Given the description of an element on the screen output the (x, y) to click on. 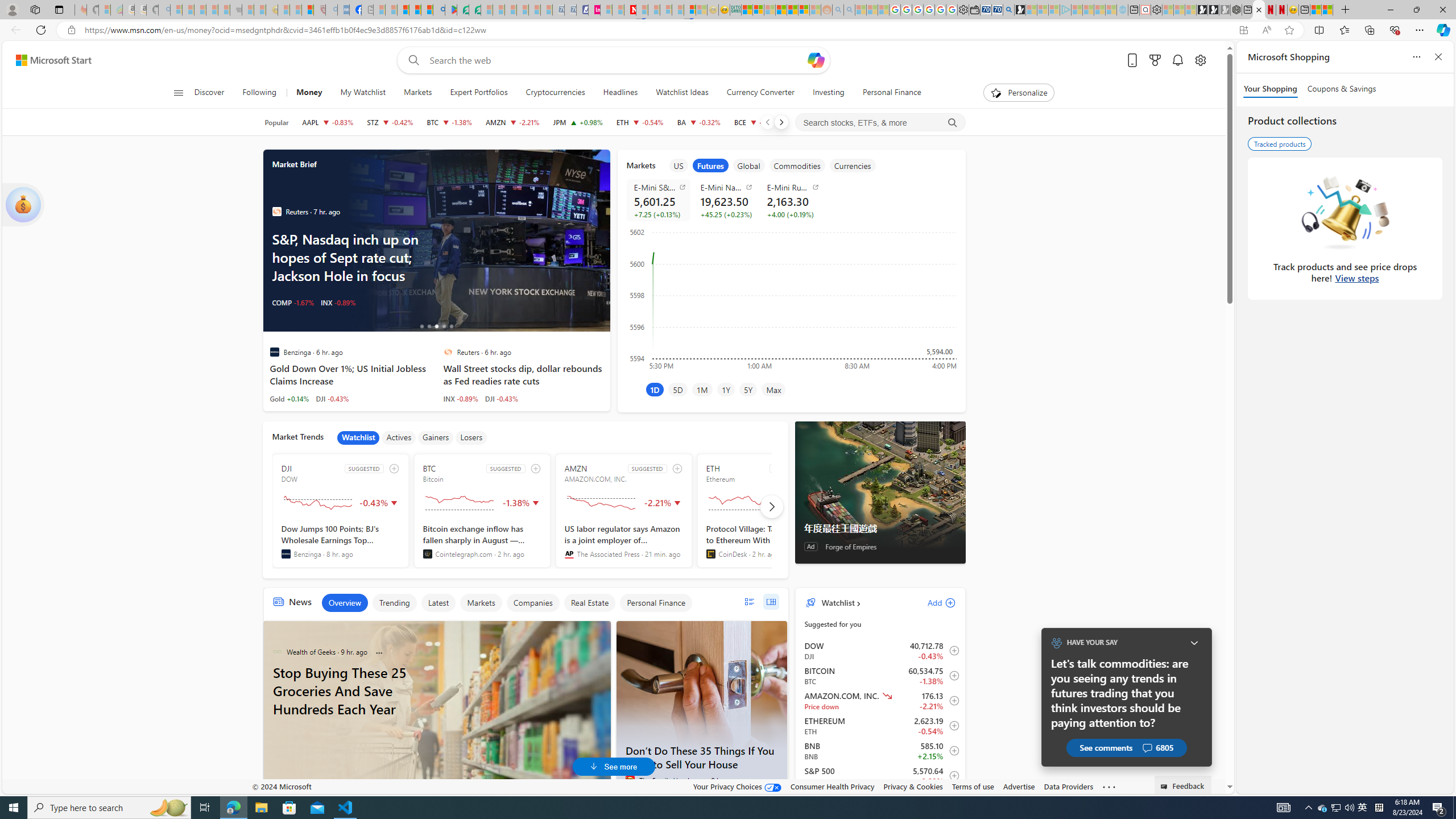
AMZN AMAZON.COM, INC. decrease 176.13 -3.98 -2.21% item2 (880, 700)
DJI SUGGESTED DOW (340, 510)
DJI DOW decrease 40,712.78 -177.71 -0.43% item0 (880, 650)
E-Mini Russell 2000 Futures (793, 187)
Pets - MSN (415, 9)
